Given the description of an element on the screen output the (x, y) to click on. 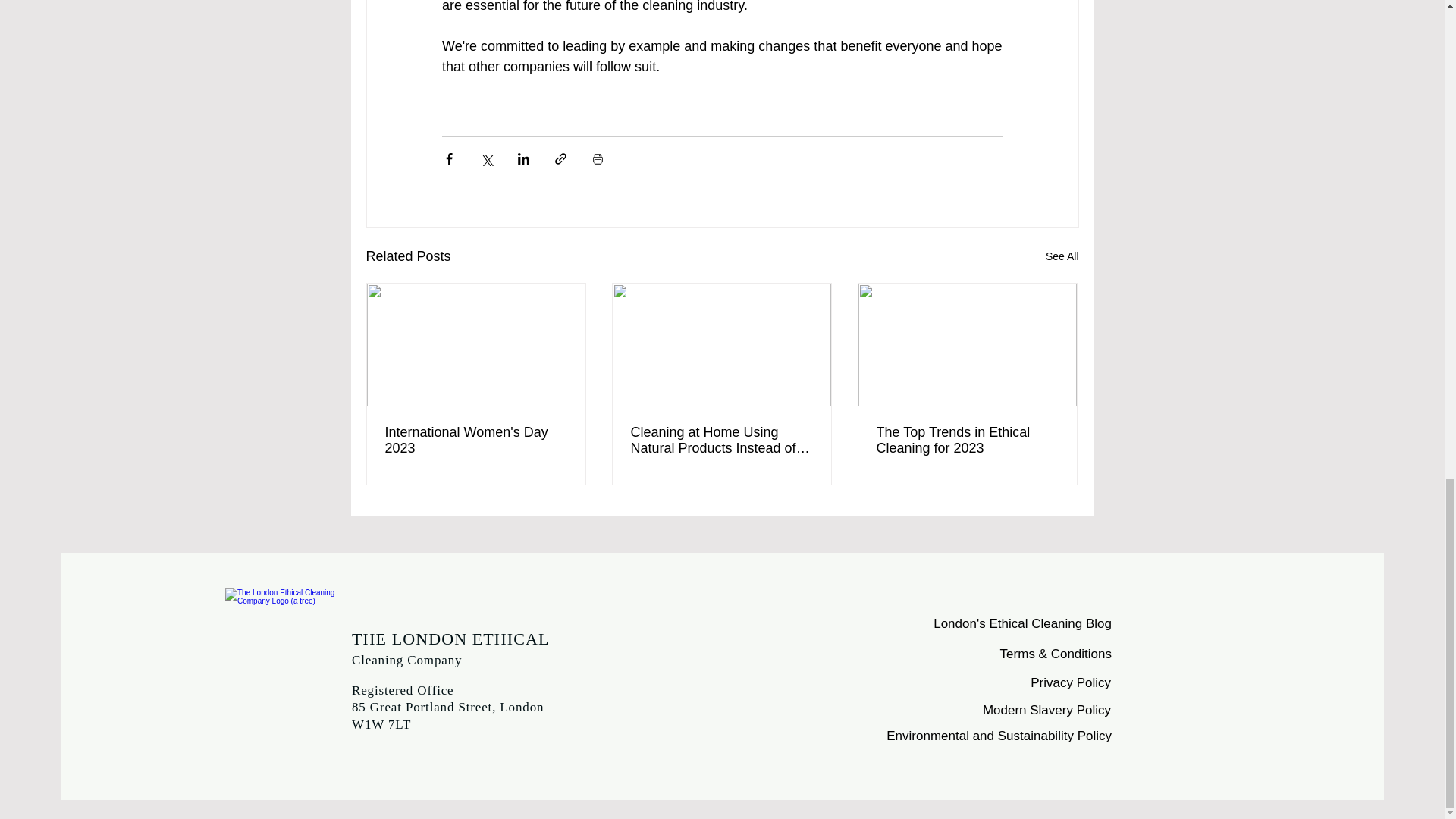
Cleaning Company (406, 659)
Modern Slavery Policy (1046, 709)
London's Ethical Cleaning Blog (1022, 623)
Environmental and Sustainability Policy (999, 735)
See All (1061, 256)
International Women's Day 2023 (476, 440)
THE LONDON ETHICAL (451, 638)
85 Great Portland Street, London (447, 707)
Registered Office (403, 690)
